Given the description of an element on the screen output the (x, y) to click on. 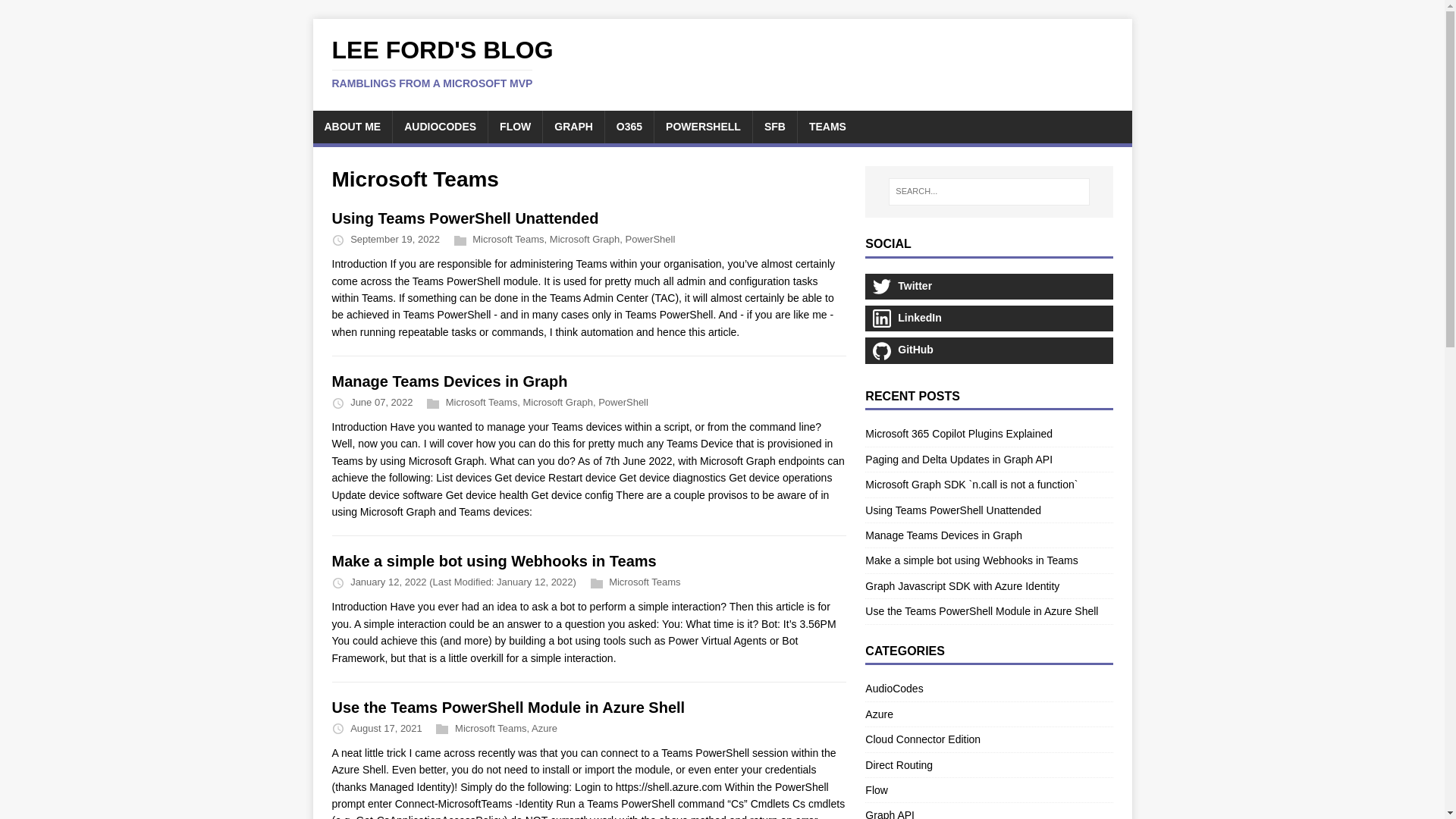
Twitter (988, 286)
Make a simple bot using Webhooks in Teams (493, 560)
Microsoft Graph (585, 238)
Microsoft Teams (480, 401)
Microsoft Teams (507, 238)
POWERSHELL (702, 126)
Manage Teams Devices in Graph (449, 381)
PowerShell (650, 238)
Lee Ford's Blog (442, 64)
GRAPH (573, 126)
Microsoft Teams (643, 582)
Microsoft Graph (442, 64)
Azure (557, 401)
PowerShell (544, 727)
